Given the description of an element on the screen output the (x, y) to click on. 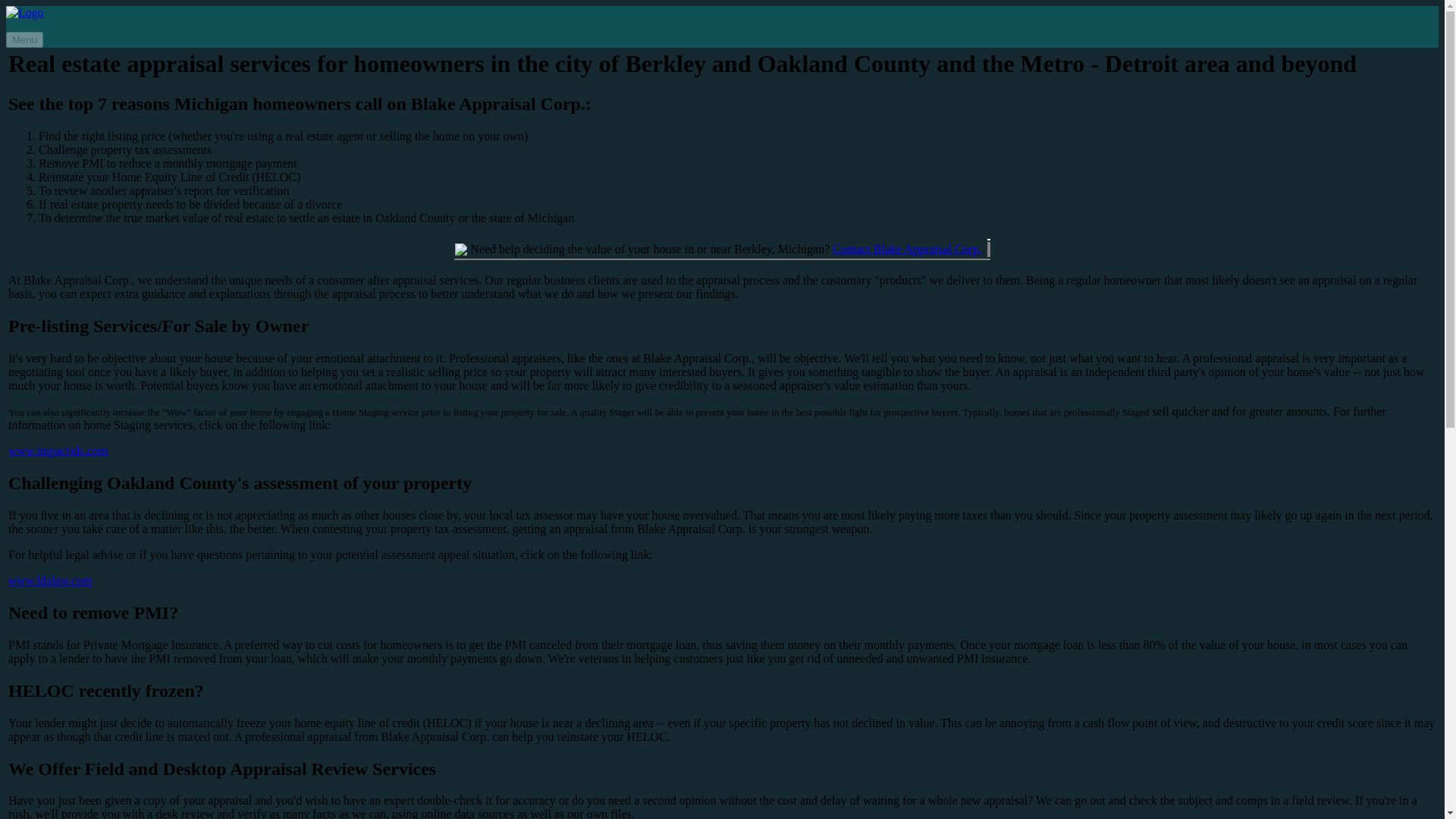
Menu (24, 39)
Contact Blake Appraisal Corp. (906, 248)
www.impactids.com (57, 450)
www.ldalaw.com (50, 580)
